Given the description of an element on the screen output the (x, y) to click on. 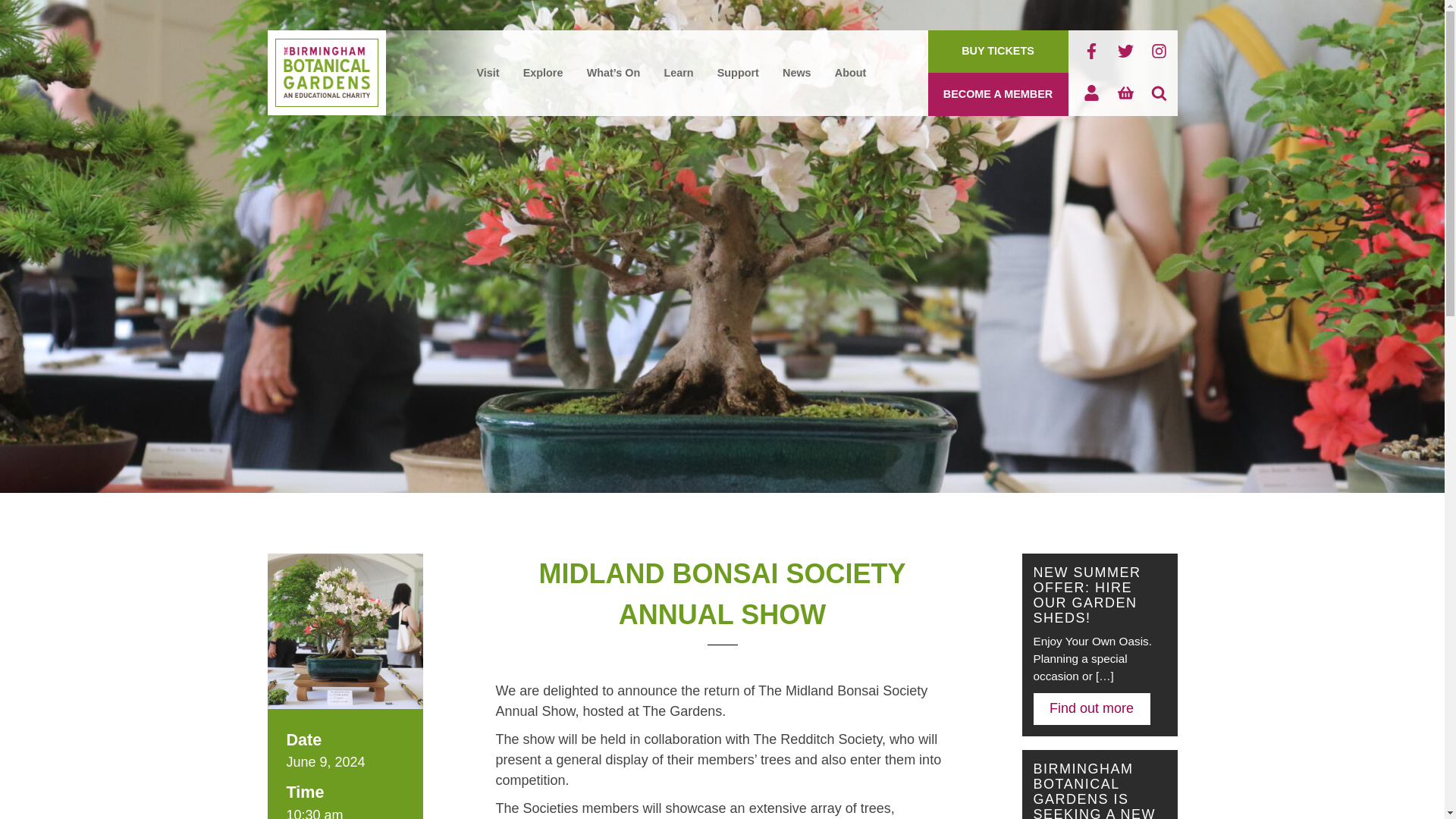
Explore (542, 73)
Support (738, 73)
BECOME A MEMBER (998, 93)
About (850, 73)
News (796, 73)
Visit (487, 73)
BUY TICKETS (998, 51)
Skip to content (391, 63)
Learn (678, 73)
